Given the description of an element on the screen output the (x, y) to click on. 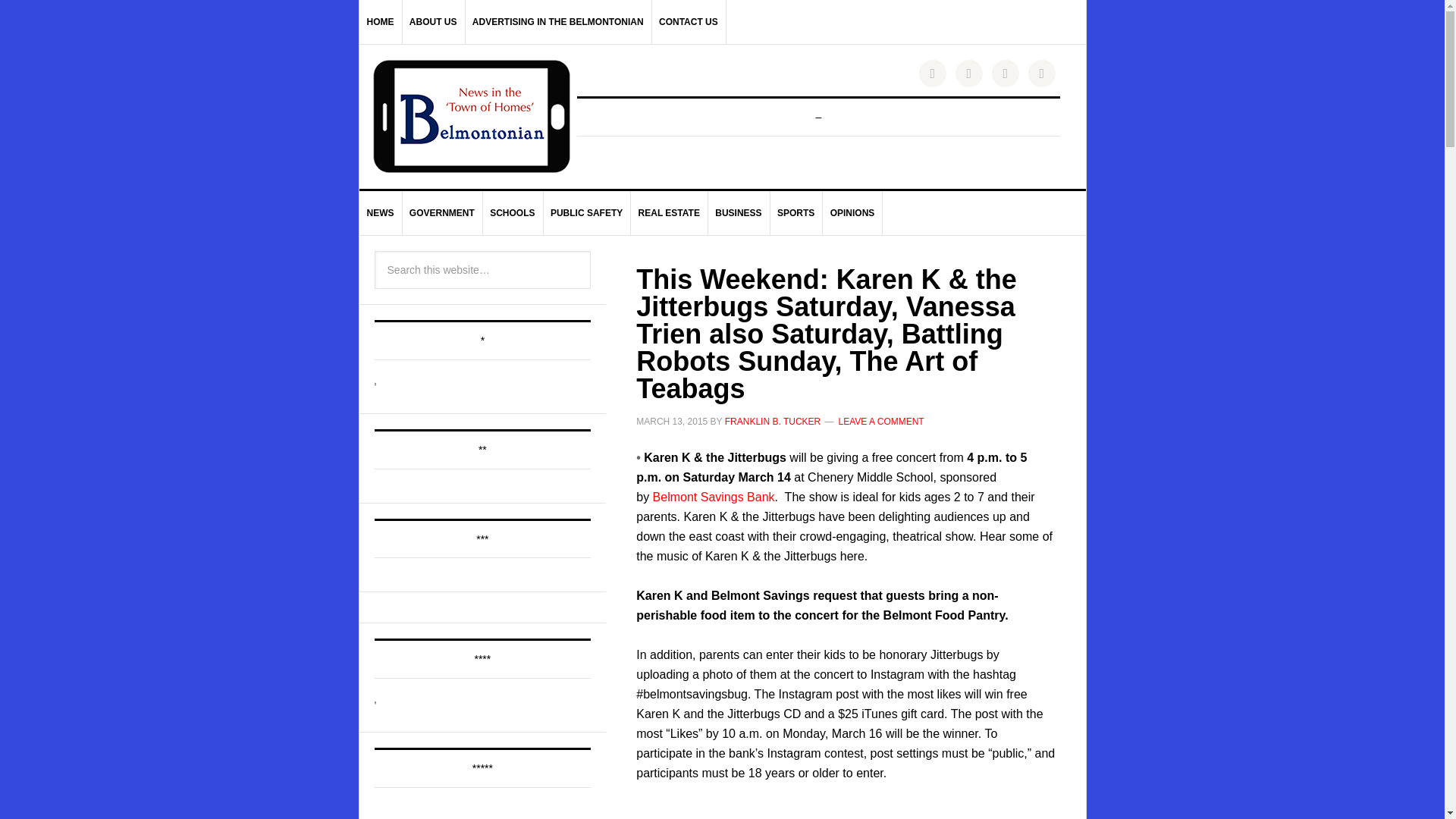
NEWS (381, 212)
Belmont Savings Bank (713, 495)
CONTACT US (688, 22)
REAL ESTATE (668, 212)
GOVERNMENT (442, 212)
THE BELMONTONIAN (471, 116)
SCHOOLS (512, 212)
LEAVE A COMMENT (881, 421)
SPORTS (796, 212)
